Given the description of an element on the screen output the (x, y) to click on. 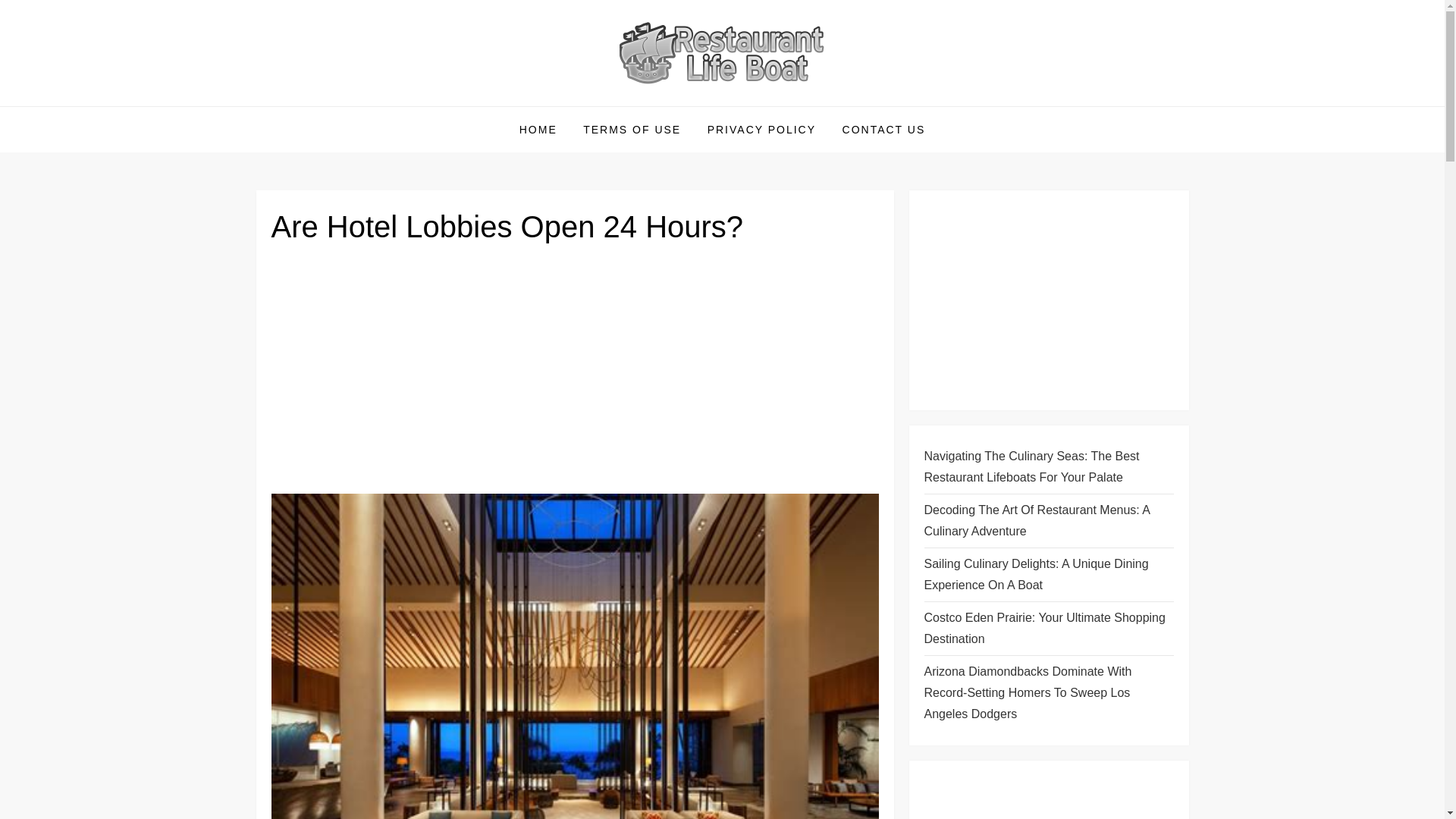
Restaurant Life Boat (394, 105)
Decoding The Art Of Restaurant Menus: A Culinary Adventure (1048, 520)
HOME (538, 129)
CONTACT US (884, 129)
PRIVACY POLICY (761, 129)
TERMS OF USE (632, 129)
Advertisement (1048, 299)
Costco Eden Prairie: Your Ultimate Shopping Destination (1048, 628)
